Given the description of an element on the screen output the (x, y) to click on. 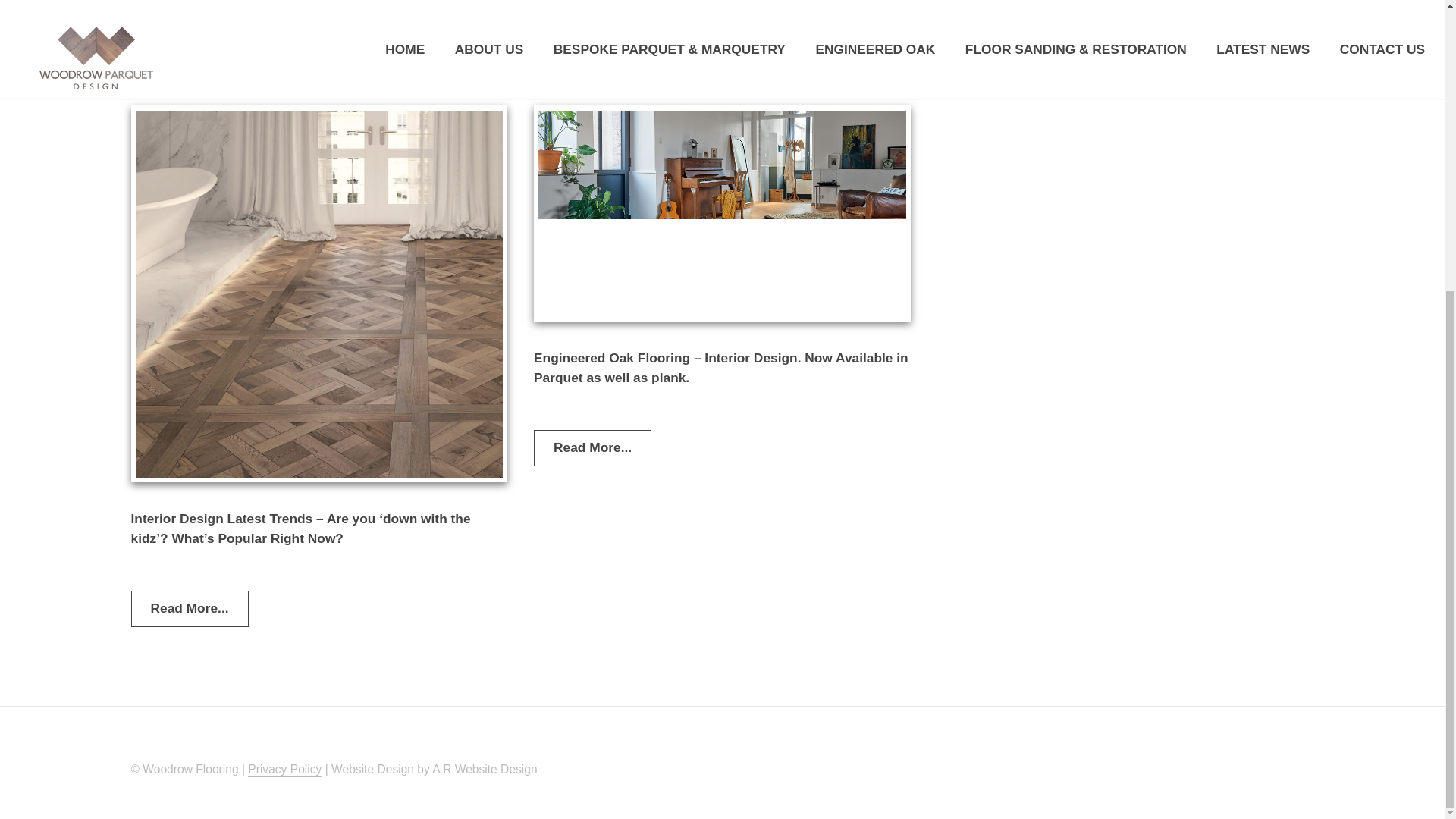
Read More... (189, 608)
Read More... (592, 447)
Read More... (592, 61)
Read More... (995, 36)
Privacy Policy (284, 769)
